Given the description of an element on the screen output the (x, y) to click on. 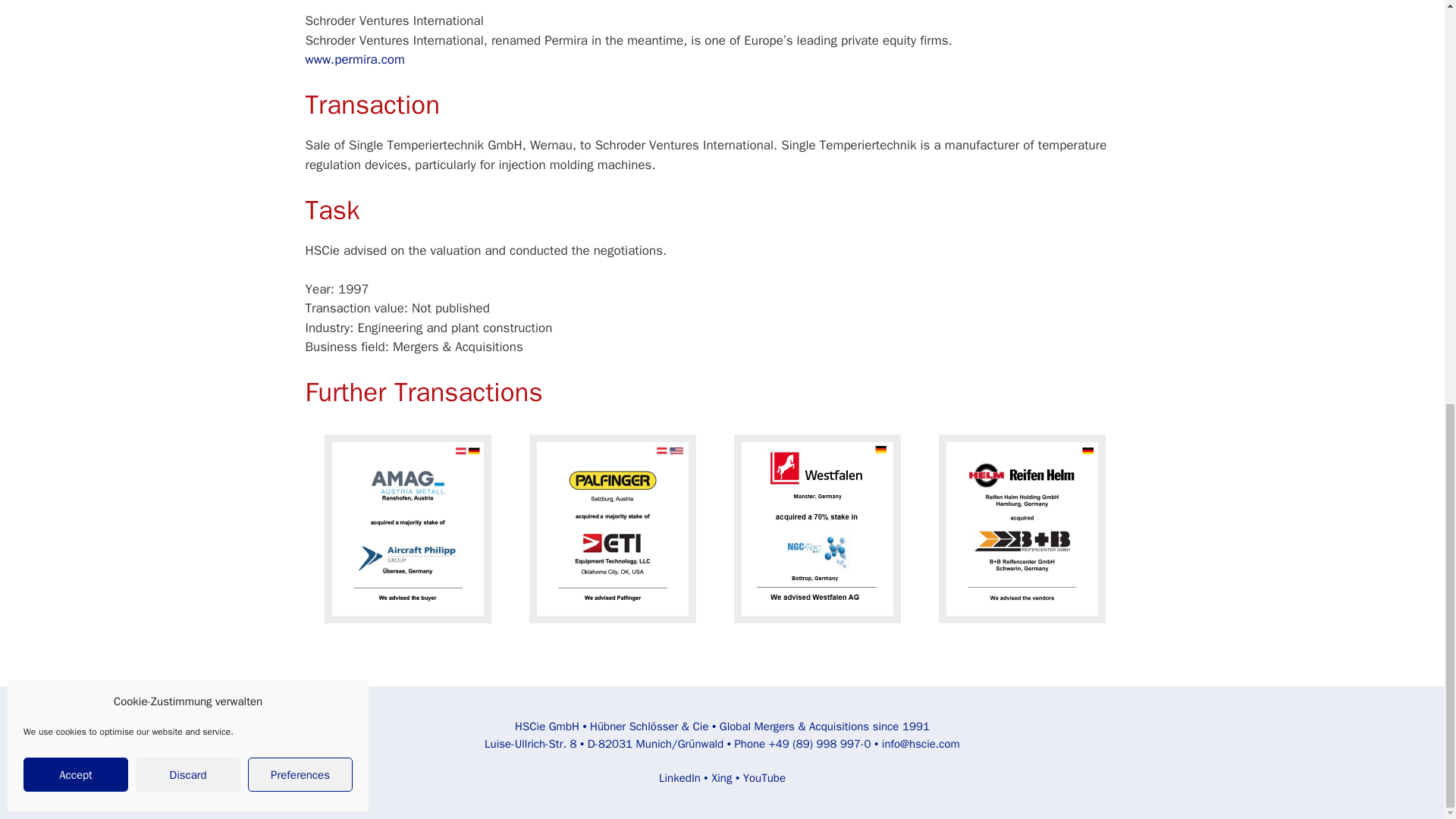
Luise-Ullrich-Str. 8 (530, 744)
www.permira.com (354, 59)
Scroll back to top (1406, 741)
